Given the description of an element on the screen output the (x, y) to click on. 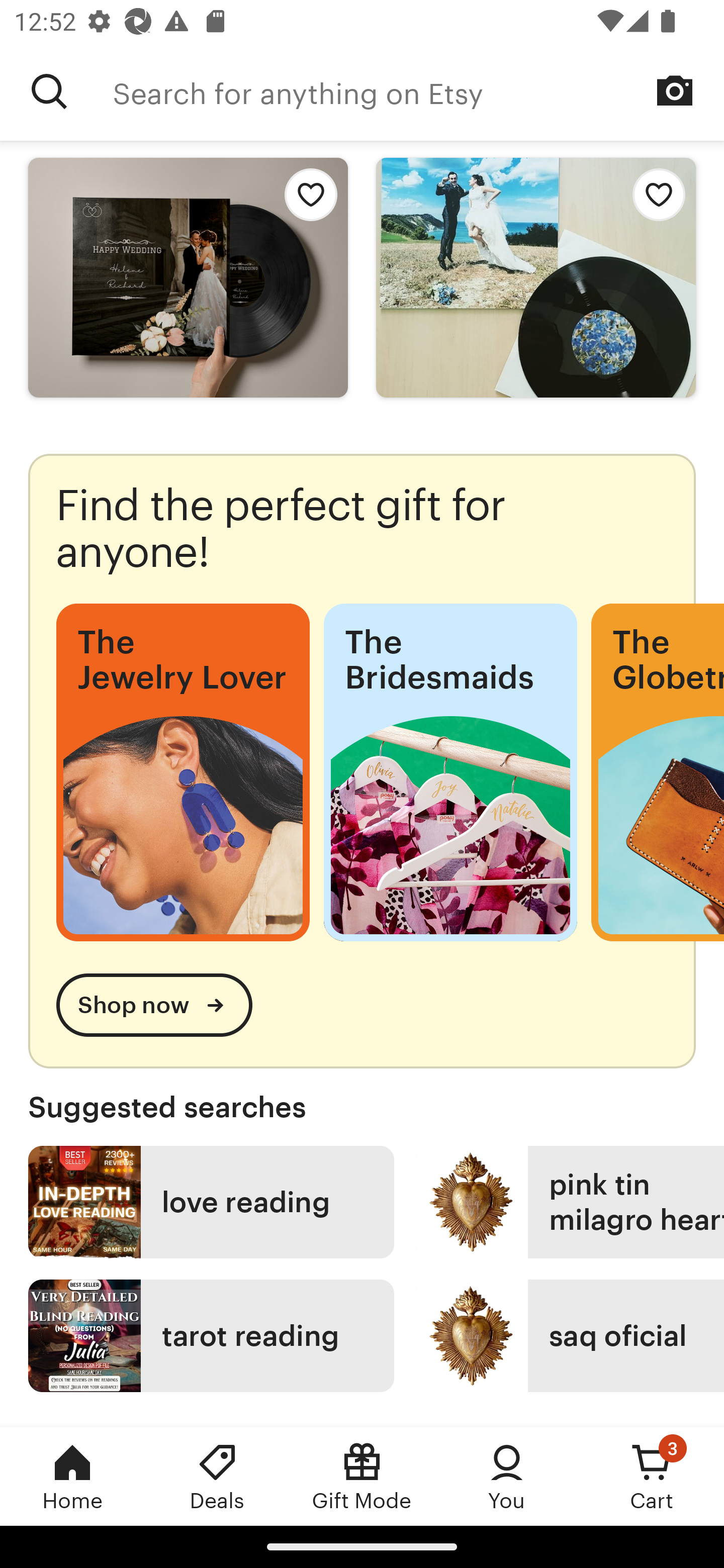
Search for anything on Etsy (49, 91)
Search by image (674, 90)
Search for anything on Etsy (418, 91)
Find the perfect gift for anyone! Shop now (361, 760)
The Jewelry Lover (182, 771)
The Bridesmaids (450, 771)
Shop now (154, 1004)
Suggested searches (362, 1106)
love reading (210, 1202)
pink tin milagro heart (569, 1202)
tarot reading (210, 1335)
saq oficial (569, 1335)
Deals (216, 1475)
Gift Mode (361, 1475)
You (506, 1475)
Cart, 3 new notifications Cart (651, 1475)
